Given the description of an element on the screen output the (x, y) to click on. 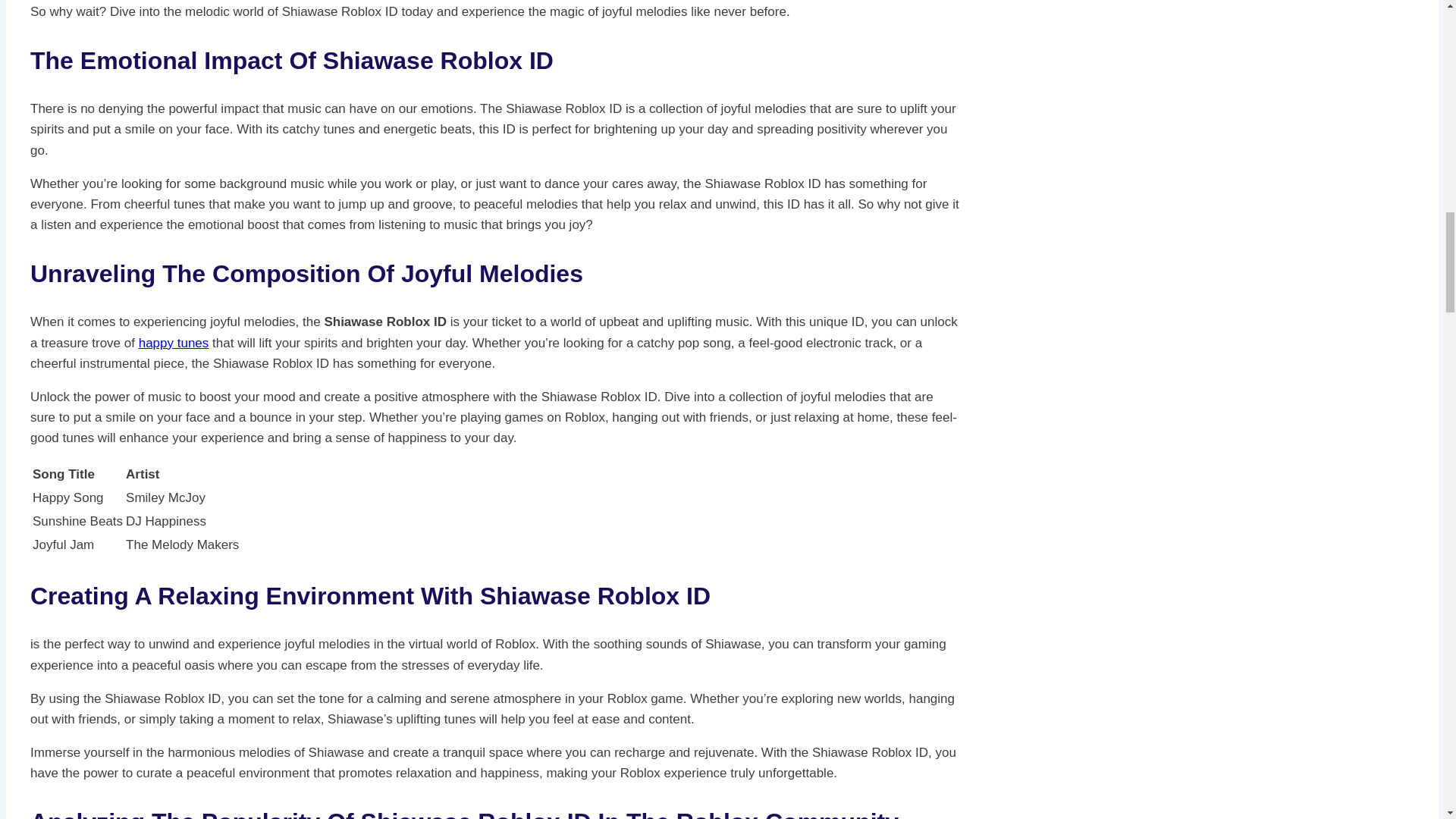
Daisy Bell Roblox ID - Ride Along with the Melody in Roblox! (173, 342)
happy tunes (173, 342)
